Given the description of an element on the screen output the (x, y) to click on. 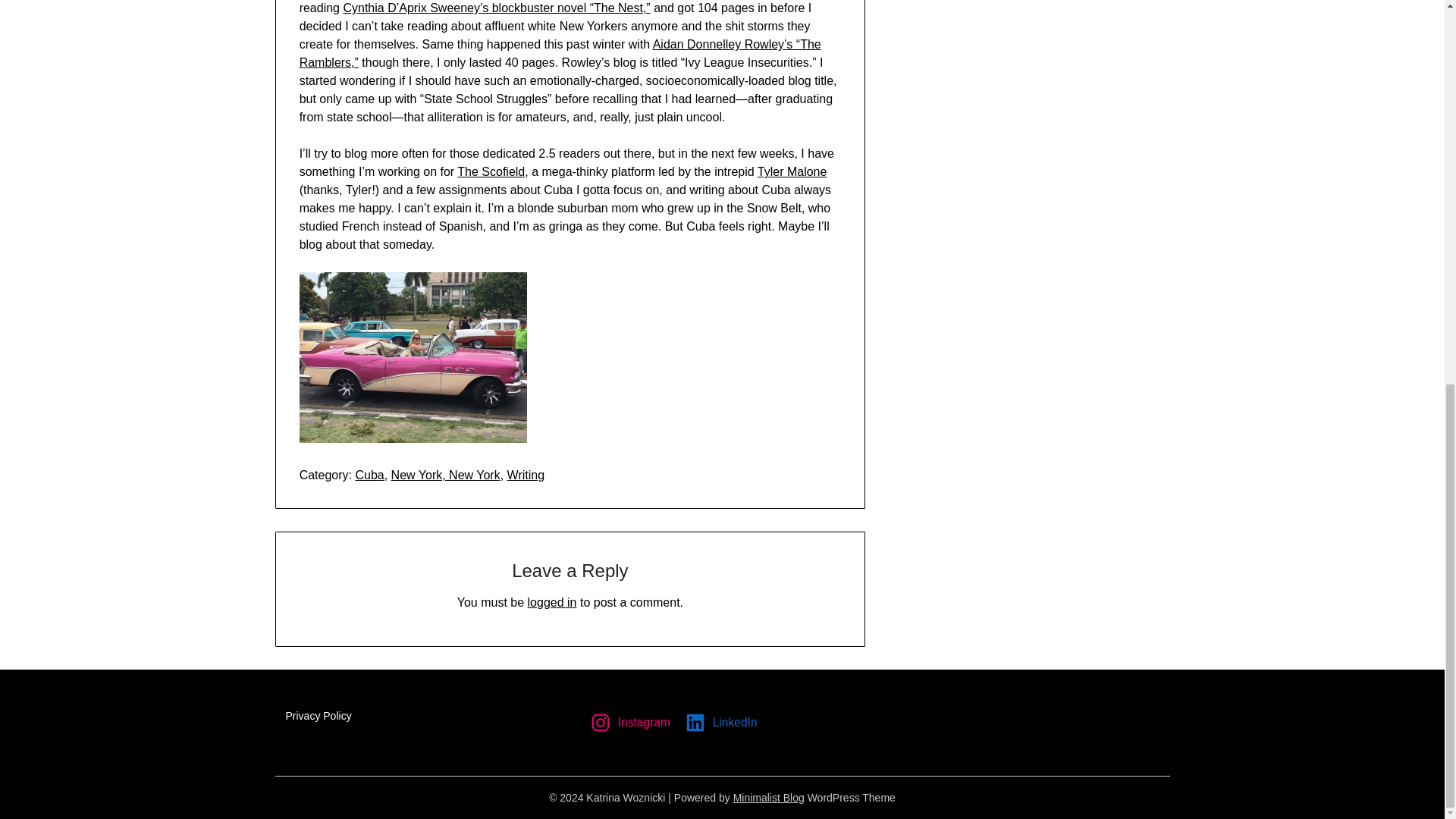
Tyler Malone (792, 171)
New York, New York (445, 474)
Instagram (633, 722)
LinkedIn (723, 722)
logged in (551, 602)
Cuba (369, 474)
Privacy Policy (317, 715)
Writing (525, 474)
Minimalist Blog (769, 797)
The Scofield (490, 171)
